Given the description of an element on the screen output the (x, y) to click on. 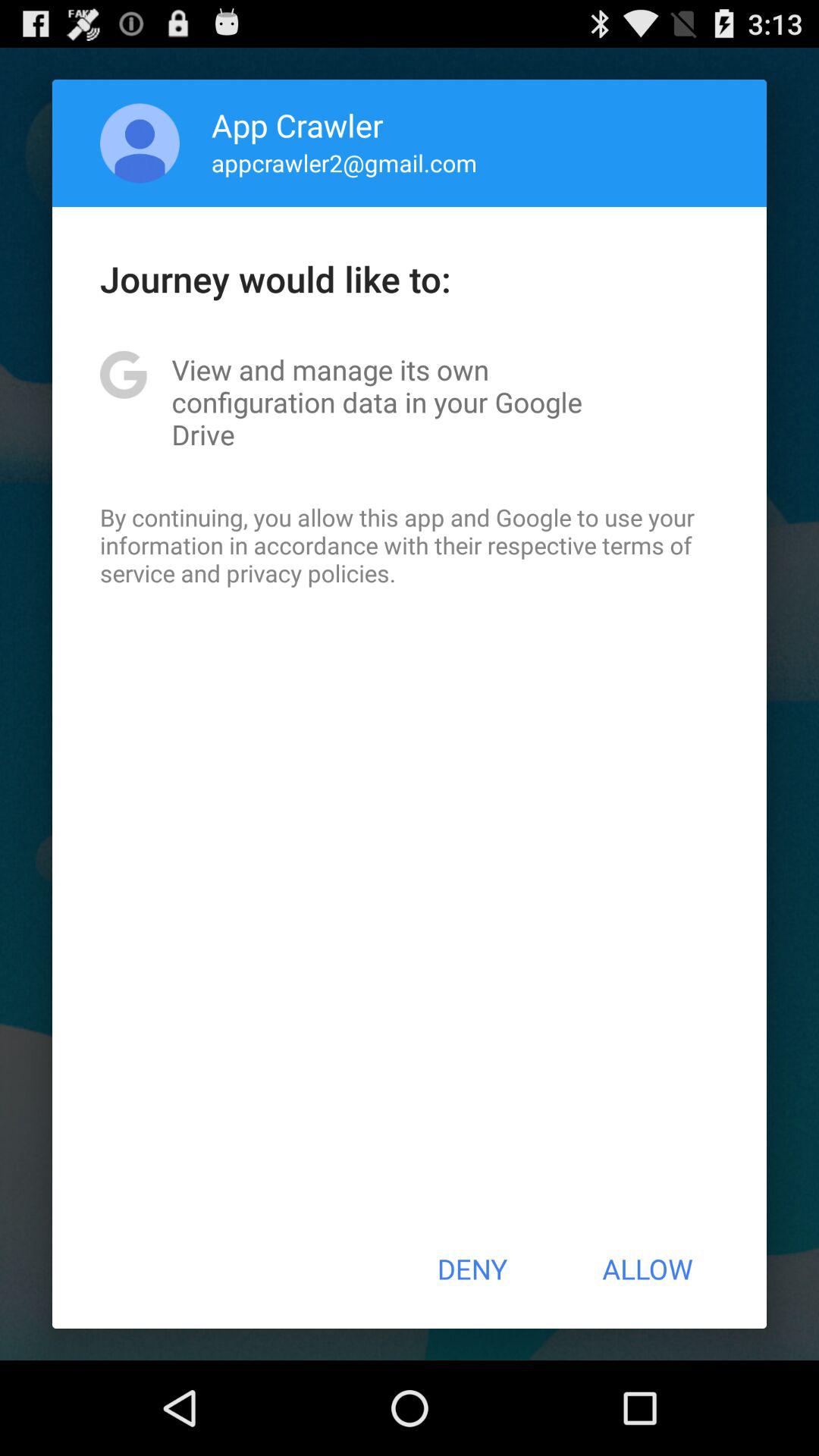
choose app to the left of app crawler app (139, 143)
